Given the description of an element on the screen output the (x, y) to click on. 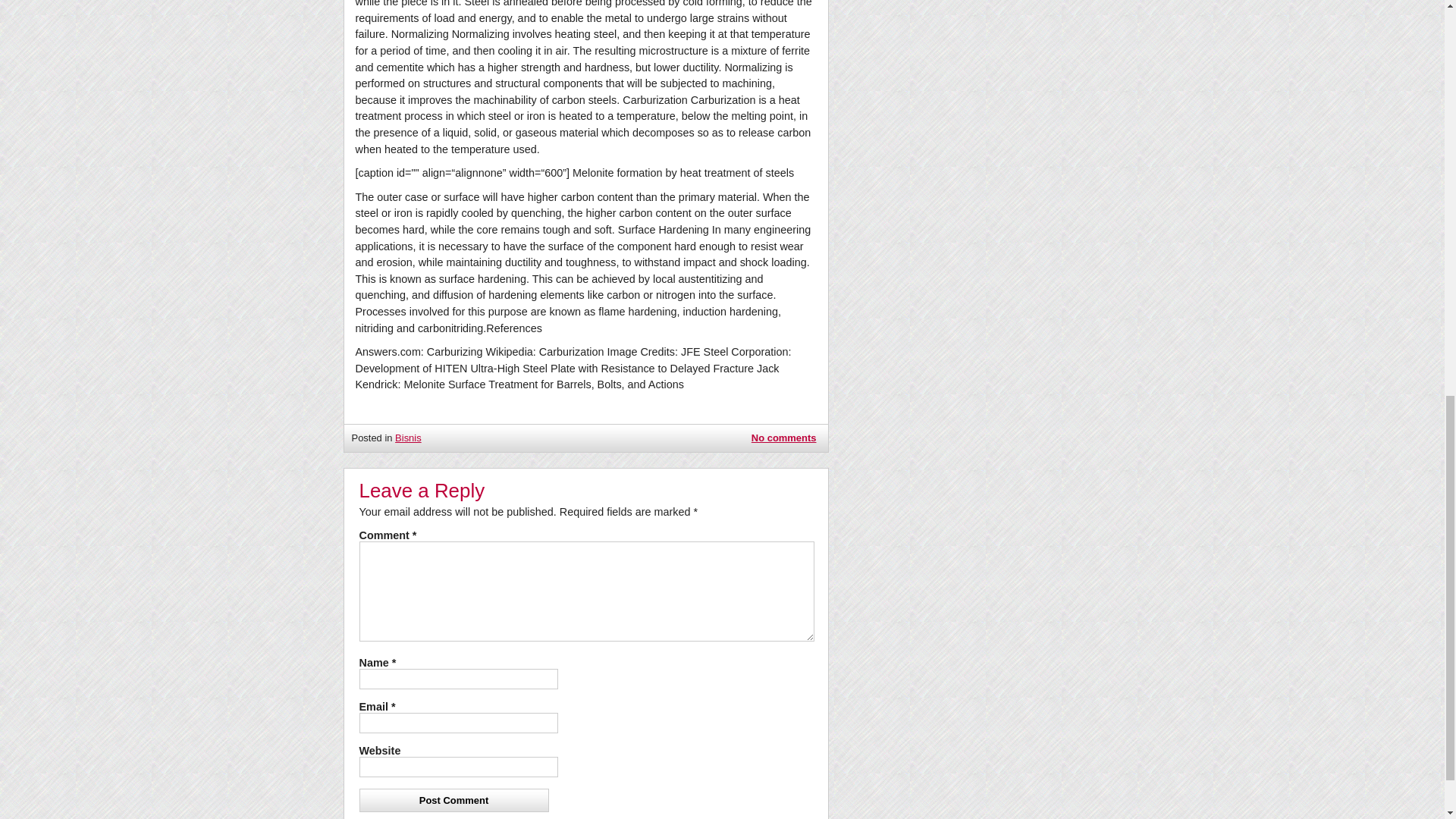
No comments (784, 438)
Bisnis (408, 437)
Post Comment (453, 800)
Post Comment (453, 800)
